Given the description of an element on the screen output the (x, y) to click on. 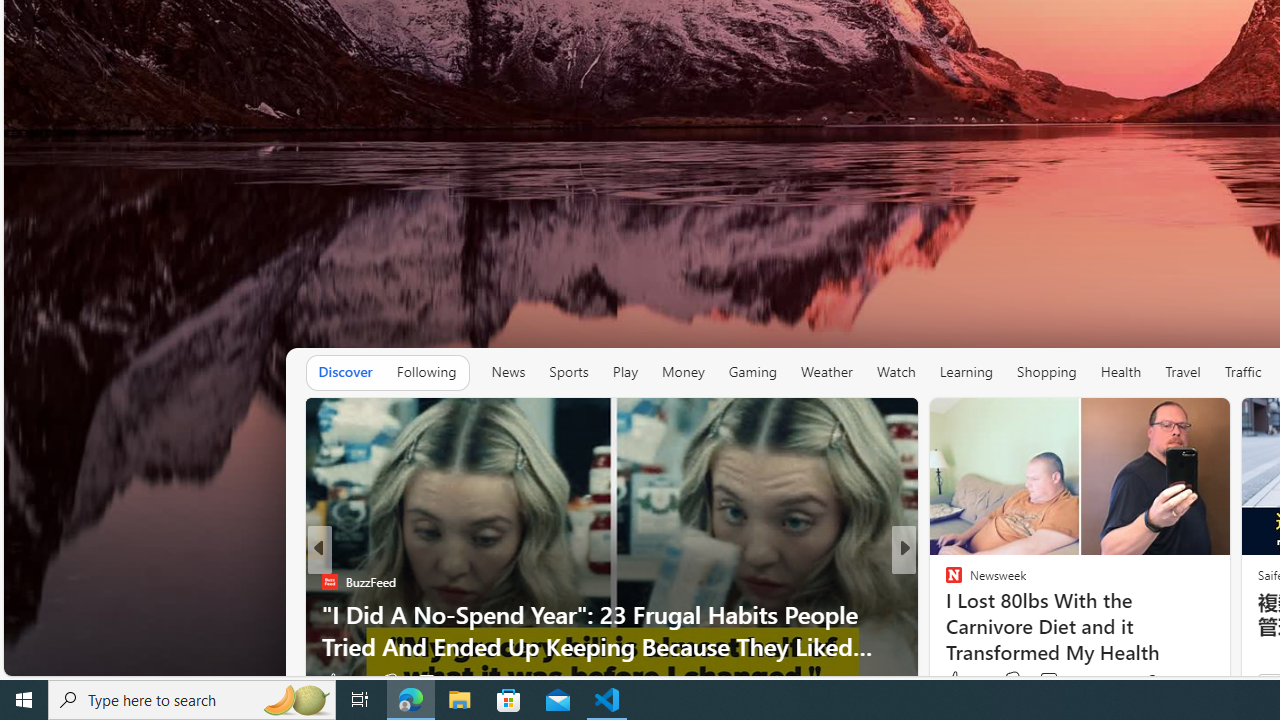
69 Like (956, 681)
View comments 31 Comment (1042, 681)
Body Network (944, 581)
View comments 30 Comment (1051, 681)
383 Like (964, 680)
Food Republic (944, 614)
The Passport Kitchen (944, 614)
